Given the description of an element on the screen output the (x, y) to click on. 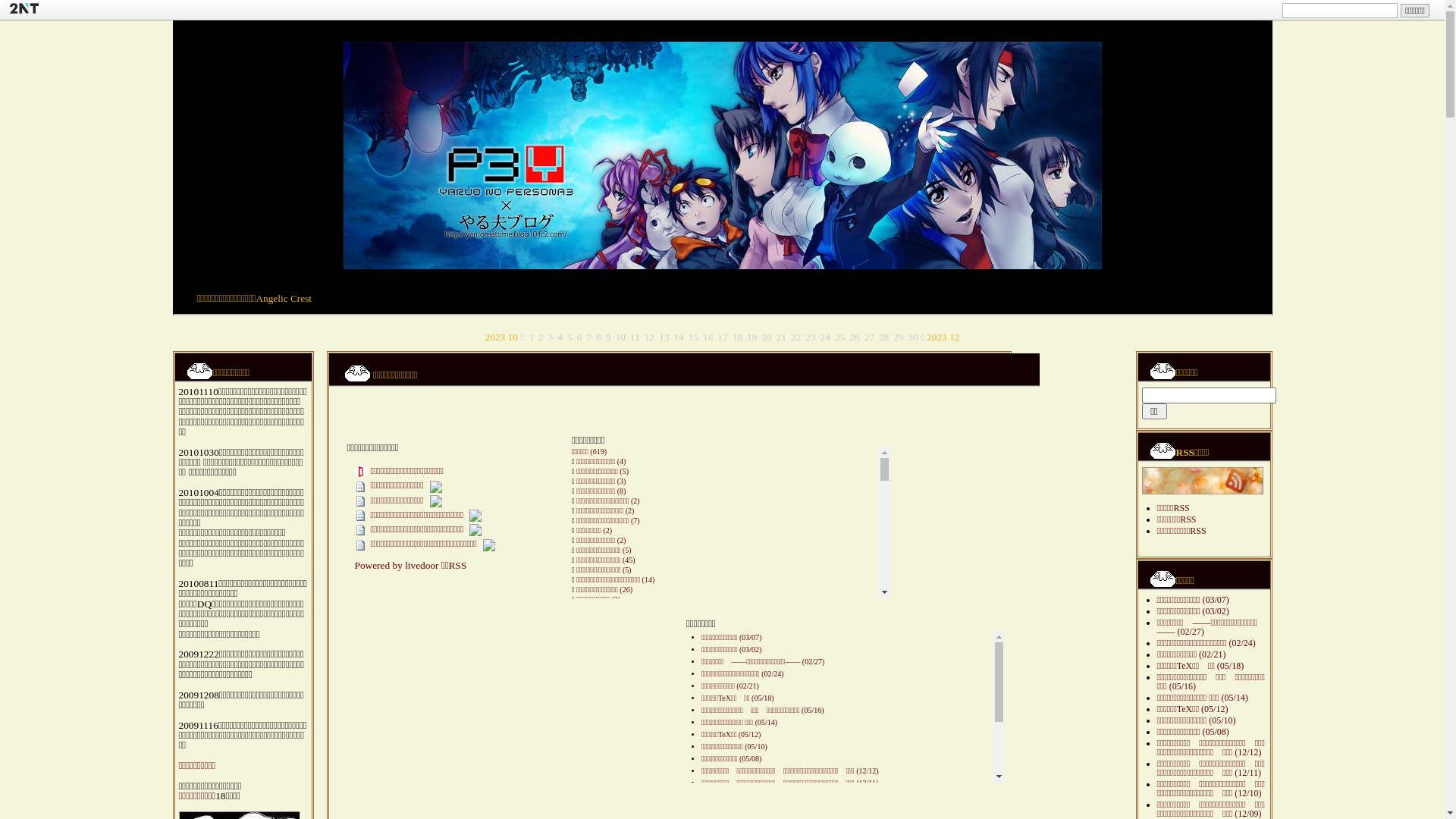
2023 10 Element type: text (501, 336)
2023 12 Element type: text (942, 336)
